Given the description of an element on the screen output the (x, y) to click on. 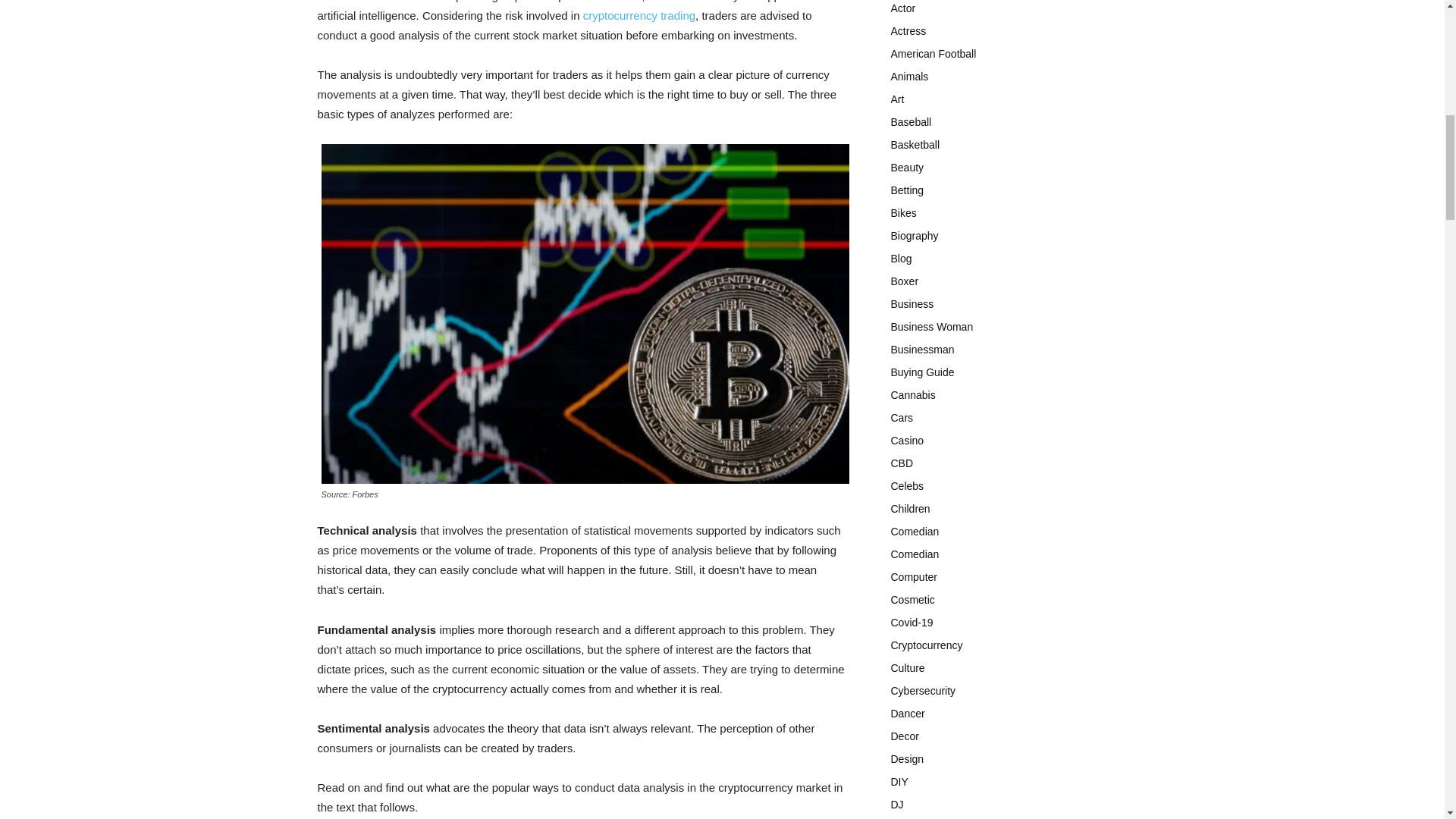
cryptocurrency trading (639, 15)
